Given the description of an element on the screen output the (x, y) to click on. 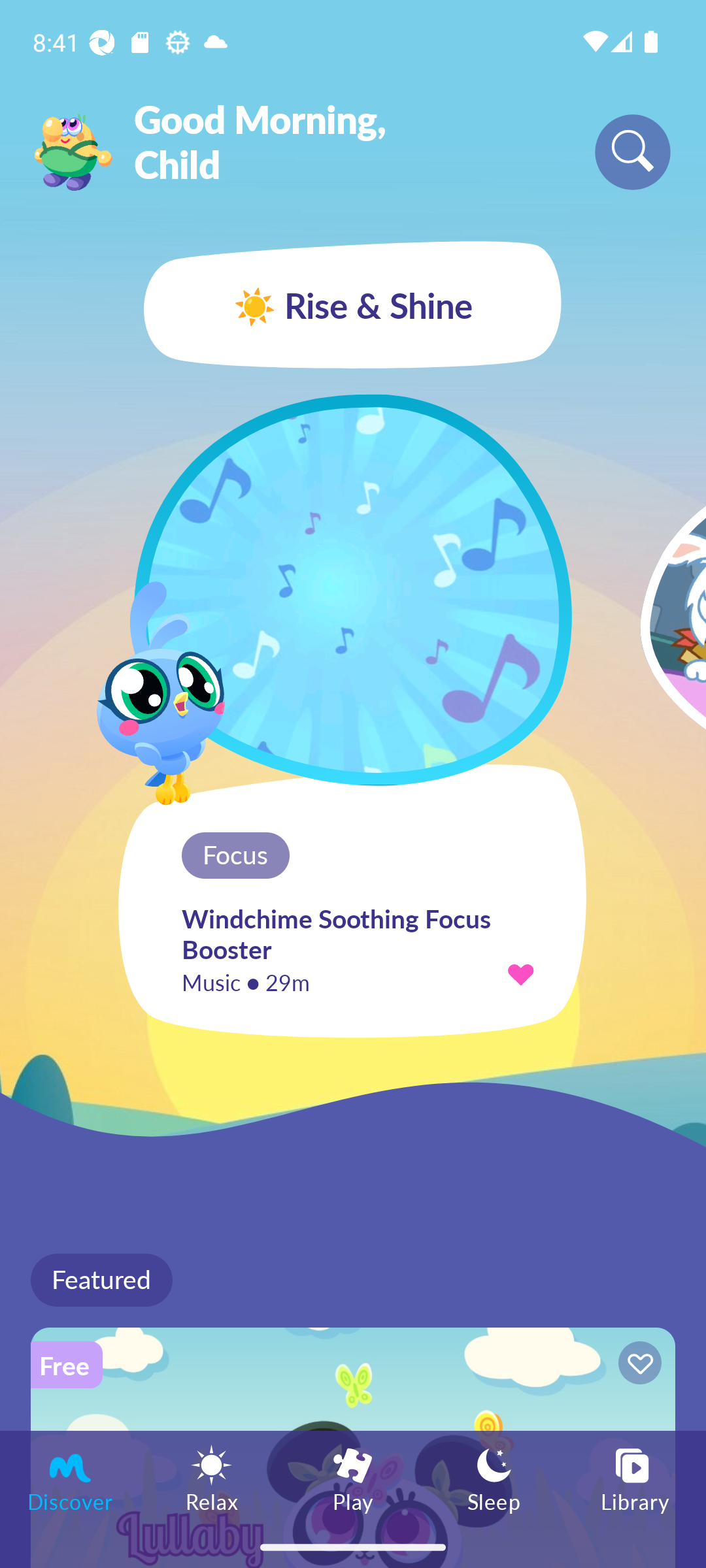
Search (632, 151)
action (520, 973)
Button (636, 1365)
Relax (211, 1478)
Play (352, 1478)
Sleep (493, 1478)
Library (635, 1478)
